Given the description of an element on the screen output the (x, y) to click on. 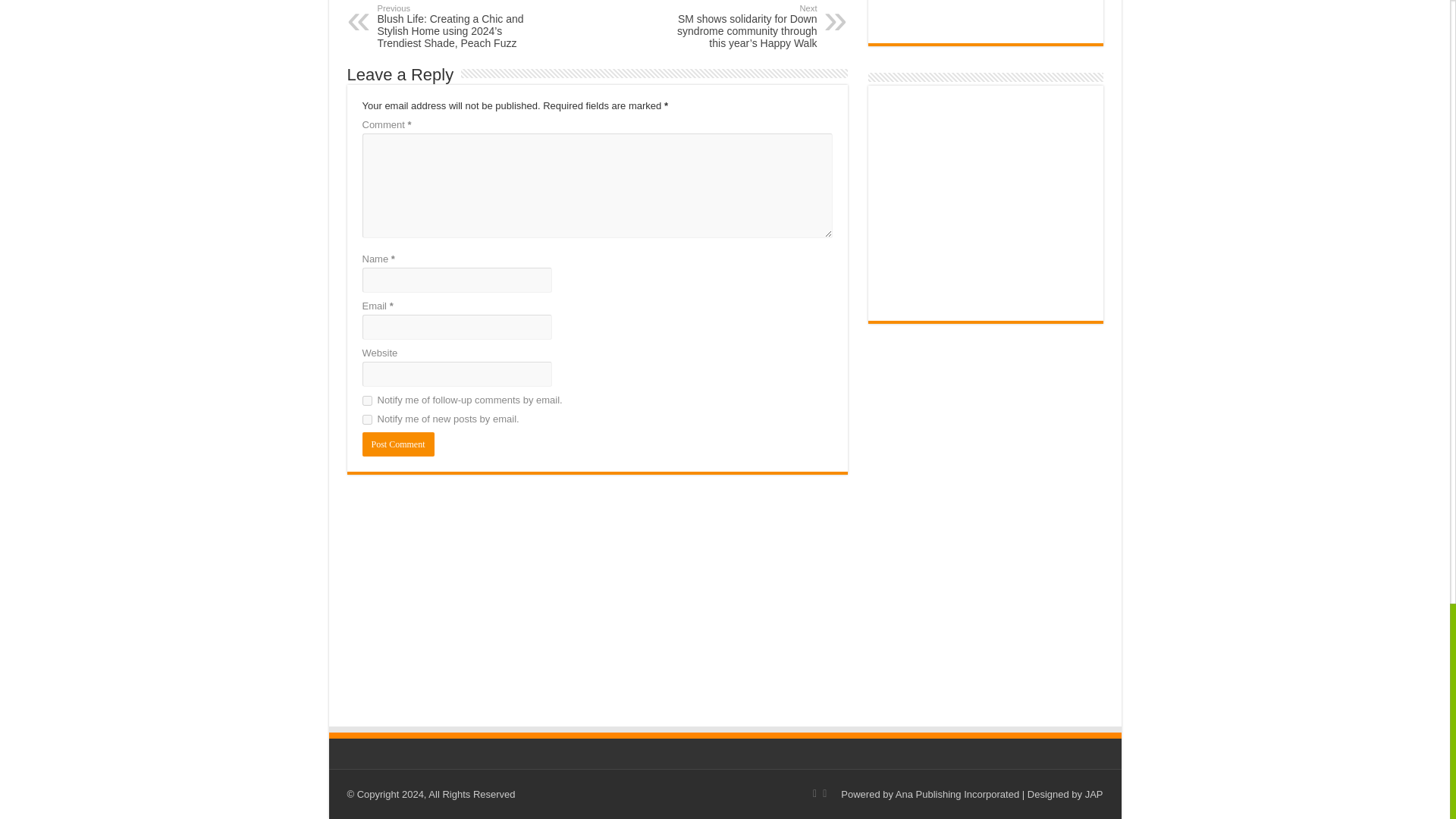
Post Comment (397, 444)
subscribe (367, 400)
subscribe (367, 419)
